Given the description of an element on the screen output the (x, y) to click on. 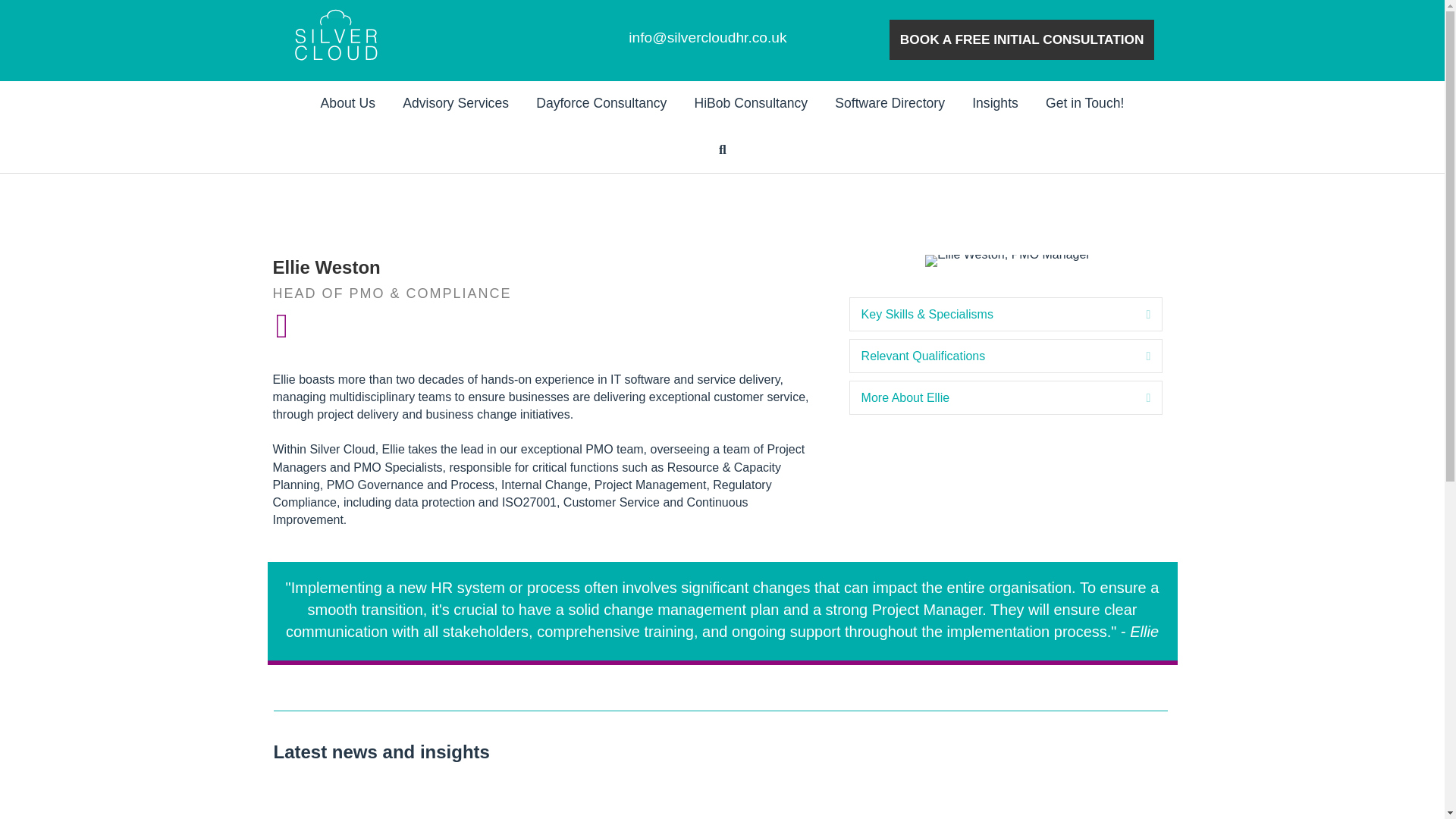
Expand (1136, 313)
Ellie Weston, PMO Manager (1007, 260)
Relevant Qualifications (992, 355)
Advisory Services (455, 104)
BOOK A FREE INITIAL CONSULTATION (1021, 39)
Dayforce Consultancy (600, 104)
About Us (347, 104)
Insights (994, 104)
Expand (1136, 397)
Software Directory (889, 104)
